Given the description of an element on the screen output the (x, y) to click on. 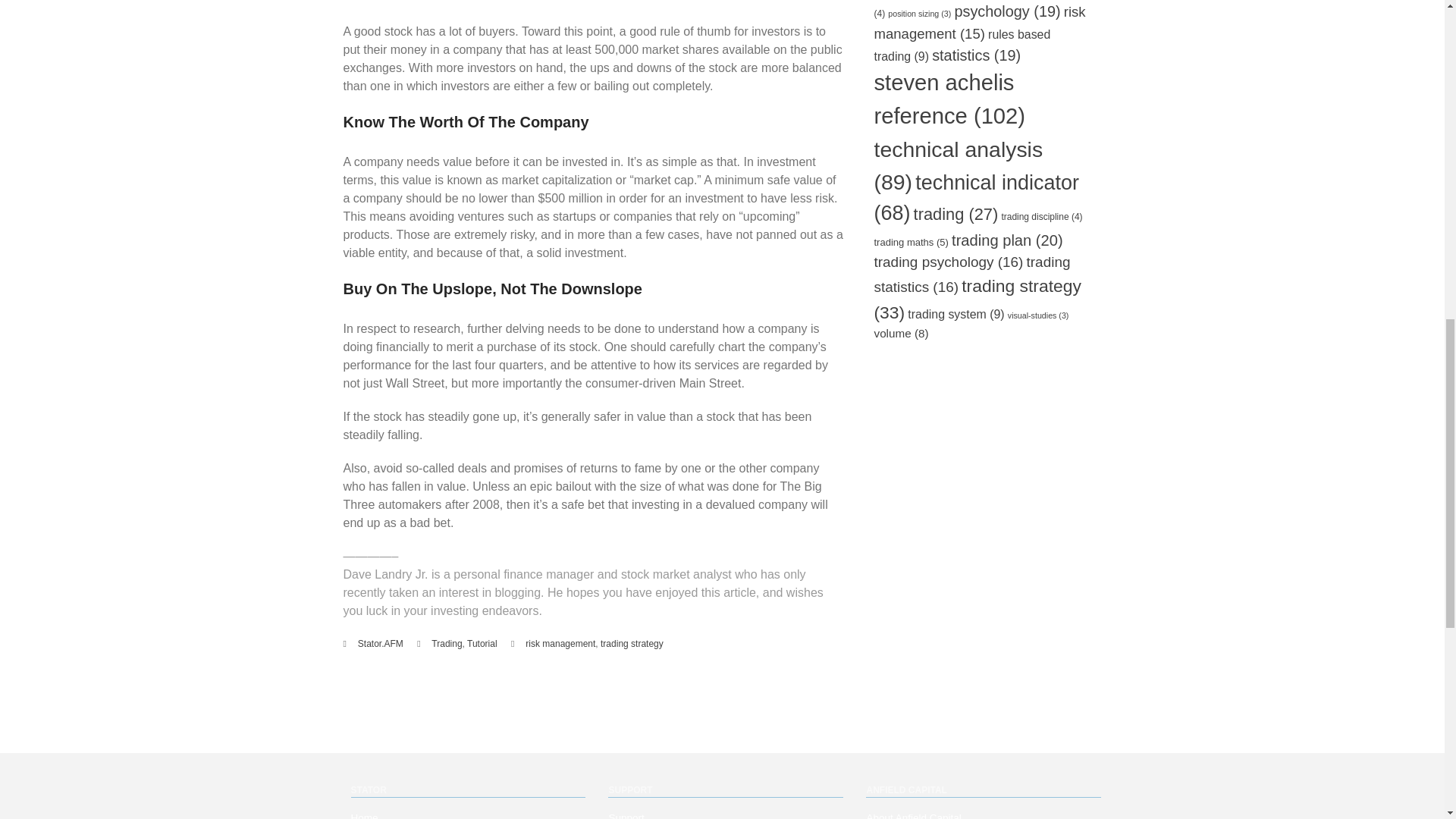
risk management (560, 643)
View all posts tagged risk management (560, 643)
View all posts in Trading (445, 643)
Tutorial (482, 643)
View all posts in Tutorial (482, 643)
View all posts by Stator.AFM (380, 643)
View all posts tagged trading strategy (631, 643)
Trading (445, 643)
trading strategy (631, 643)
Stator.AFM (380, 643)
